Given the description of an element on the screen output the (x, y) to click on. 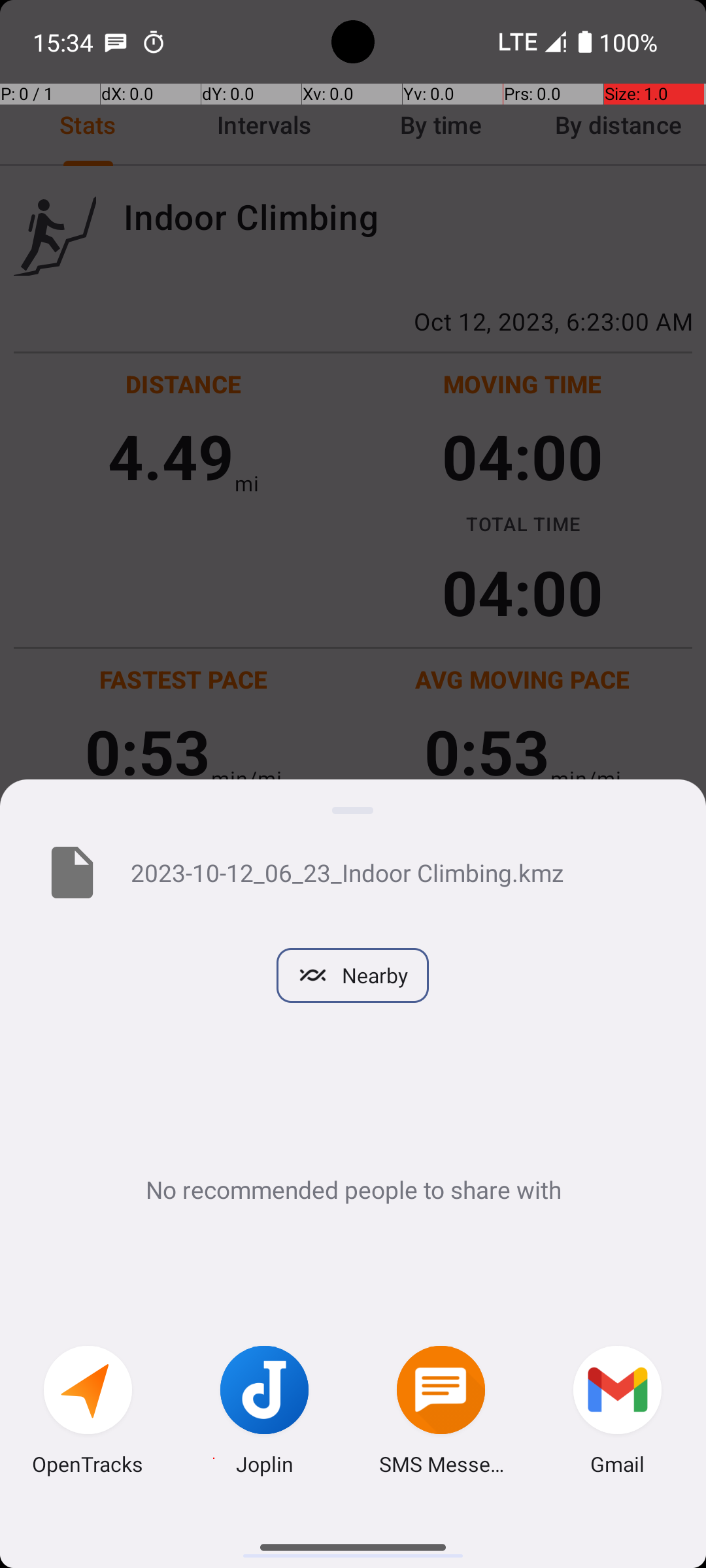
2023-10-12_06_23_Indoor Climbing.kmz Element type: android.widget.TextView (397, 872)
